Given the description of an element on the screen output the (x, y) to click on. 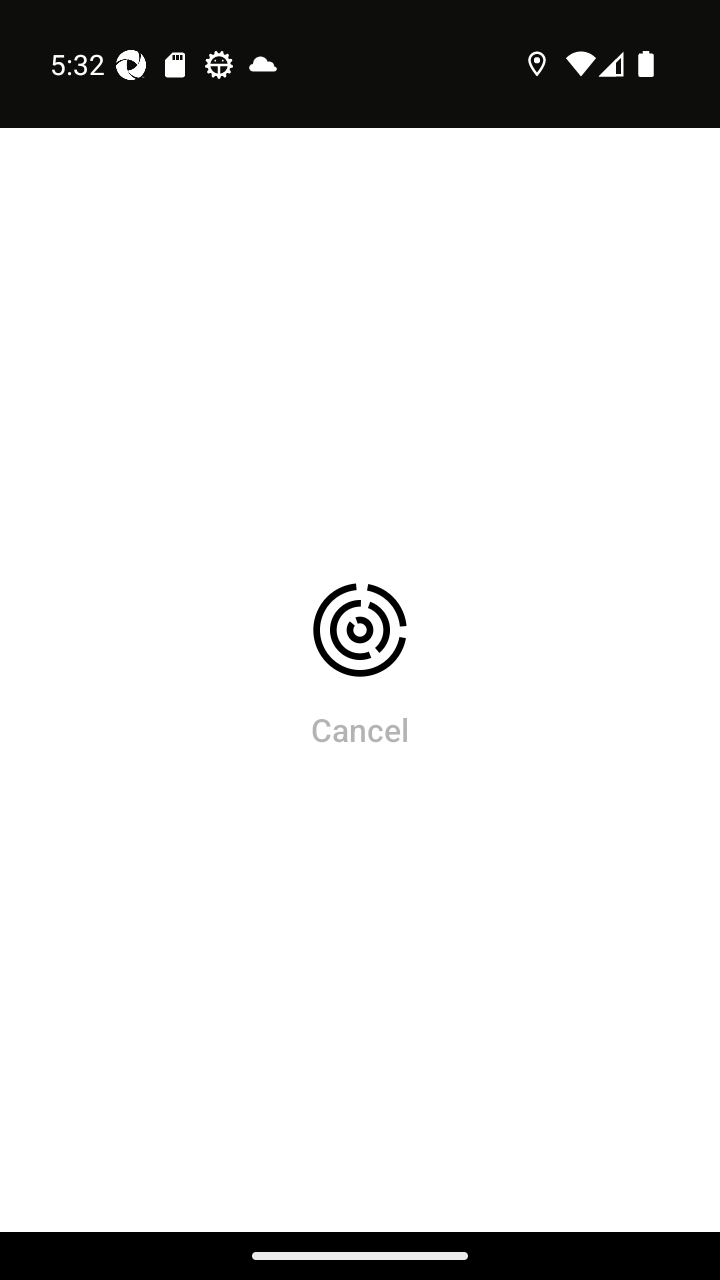
Cancel (360, 729)
